Given the description of an element on the screen output the (x, y) to click on. 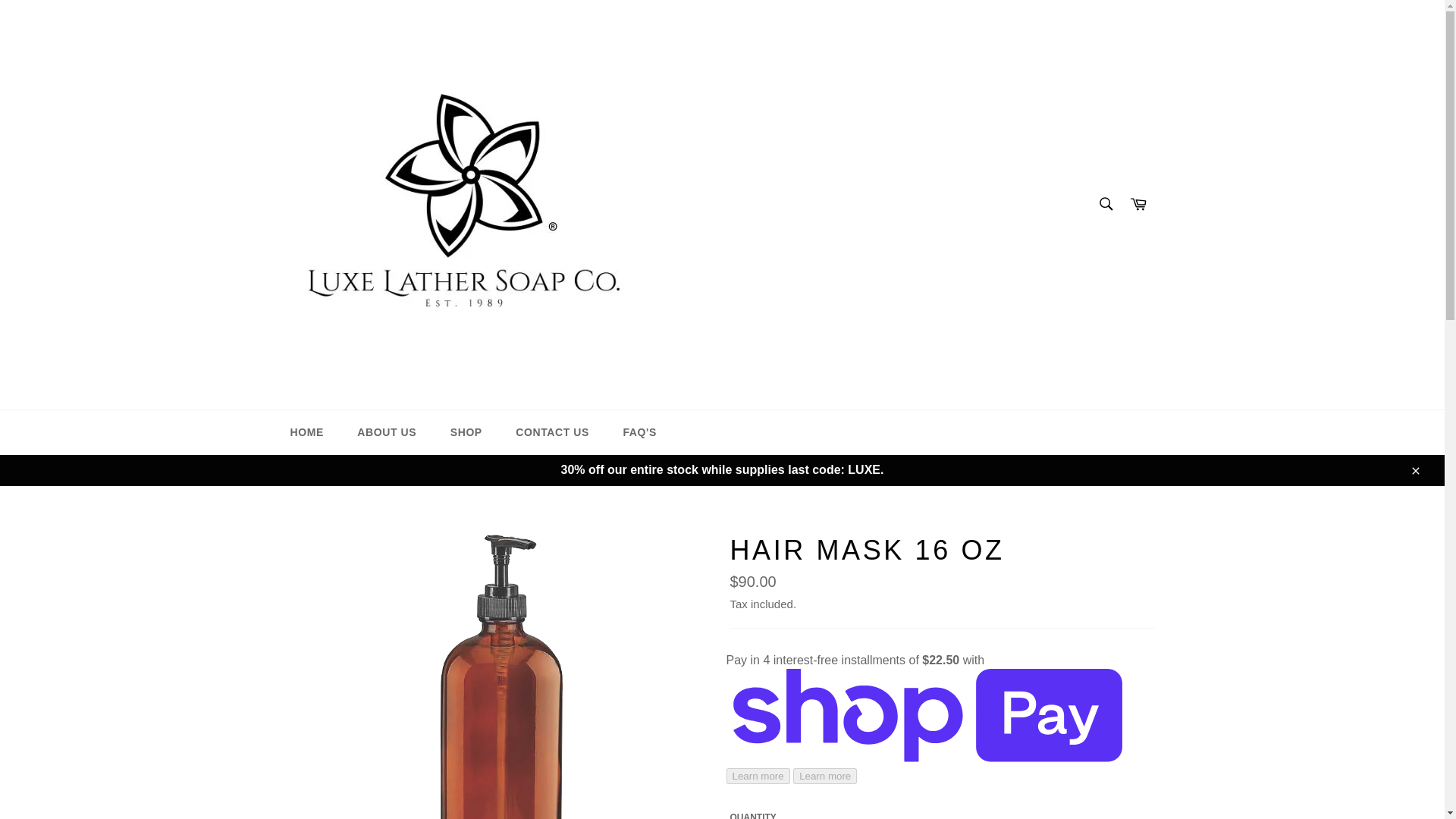
SHOP (466, 432)
Close (1414, 470)
Cart (1138, 204)
ABOUT US (386, 432)
CONTACT US (552, 432)
HOME (306, 432)
FAQ'S (639, 432)
Search (1104, 204)
